Given the description of an element on the screen output the (x, y) to click on. 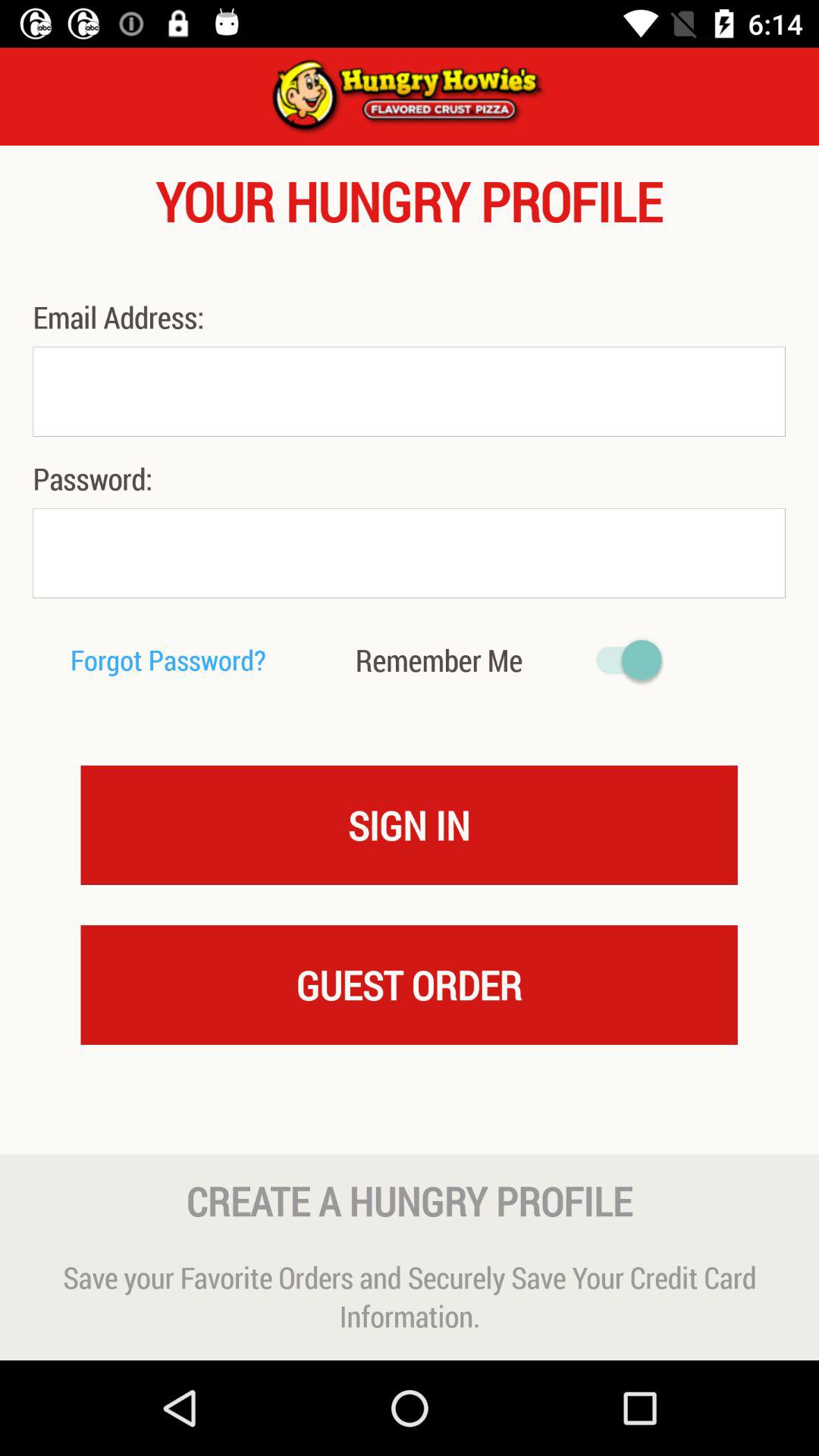
tap icon below guest order item (409, 1124)
